Given the description of an element on the screen output the (x, y) to click on. 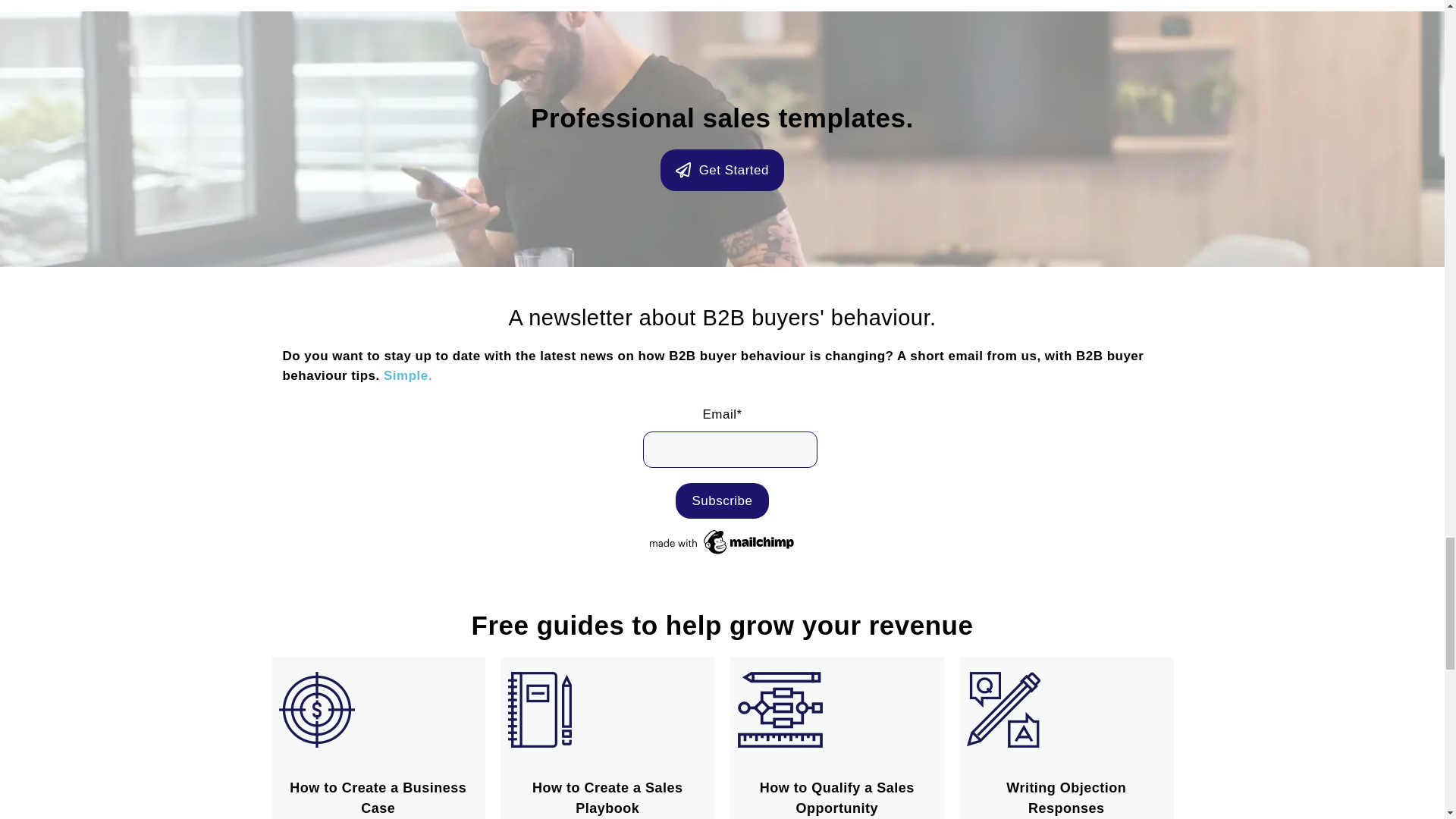
Subscribe (721, 501)
Mailchimp - email marketing made easy and fun (722, 554)
